Given the description of an element on the screen output the (x, y) to click on. 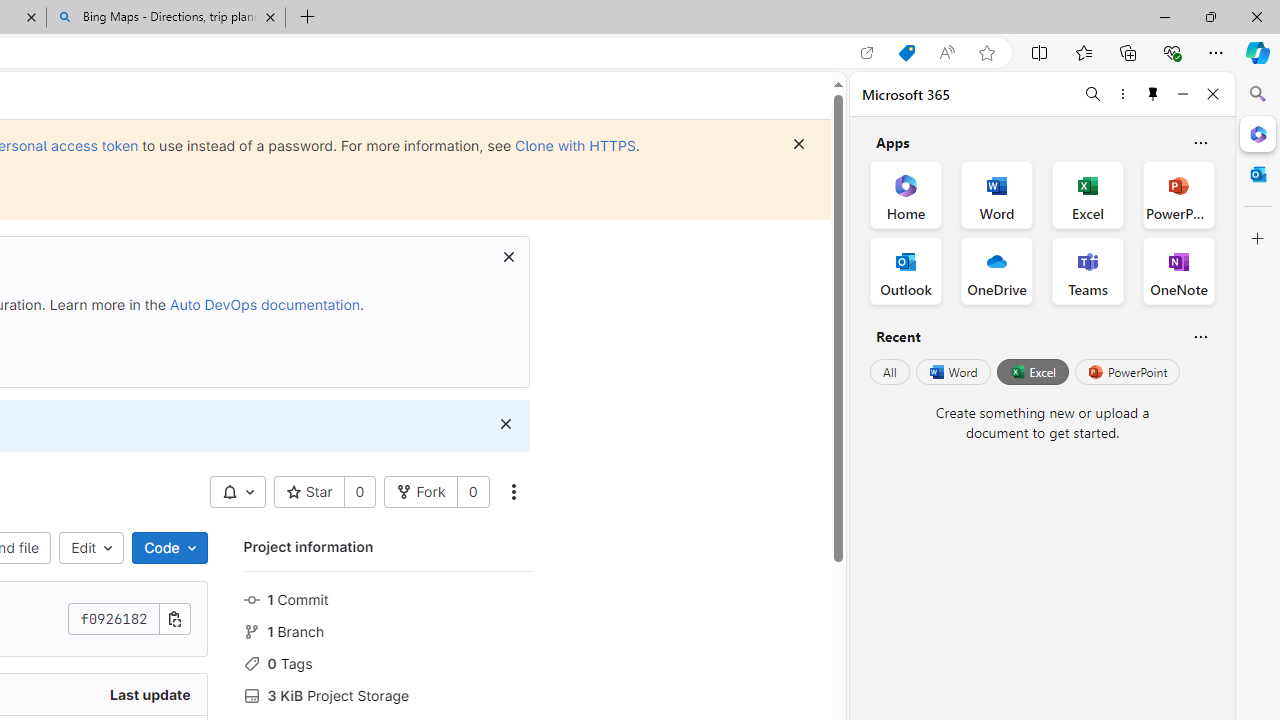
3 KiB Project Storage (387, 693)
Shopping in Microsoft Edge (906, 53)
0 Tags (387, 662)
All (890, 372)
Class: s16 gl-icon gl-button-icon  (505, 424)
Code (169, 547)
Home Office App (906, 194)
AutomationID: __BVID__498__BV_toggle_ (237, 491)
Word Office App (996, 194)
Edit (91, 547)
Open in app (867, 53)
0 Tags (387, 662)
